Given the description of an element on the screen output the (x, y) to click on. 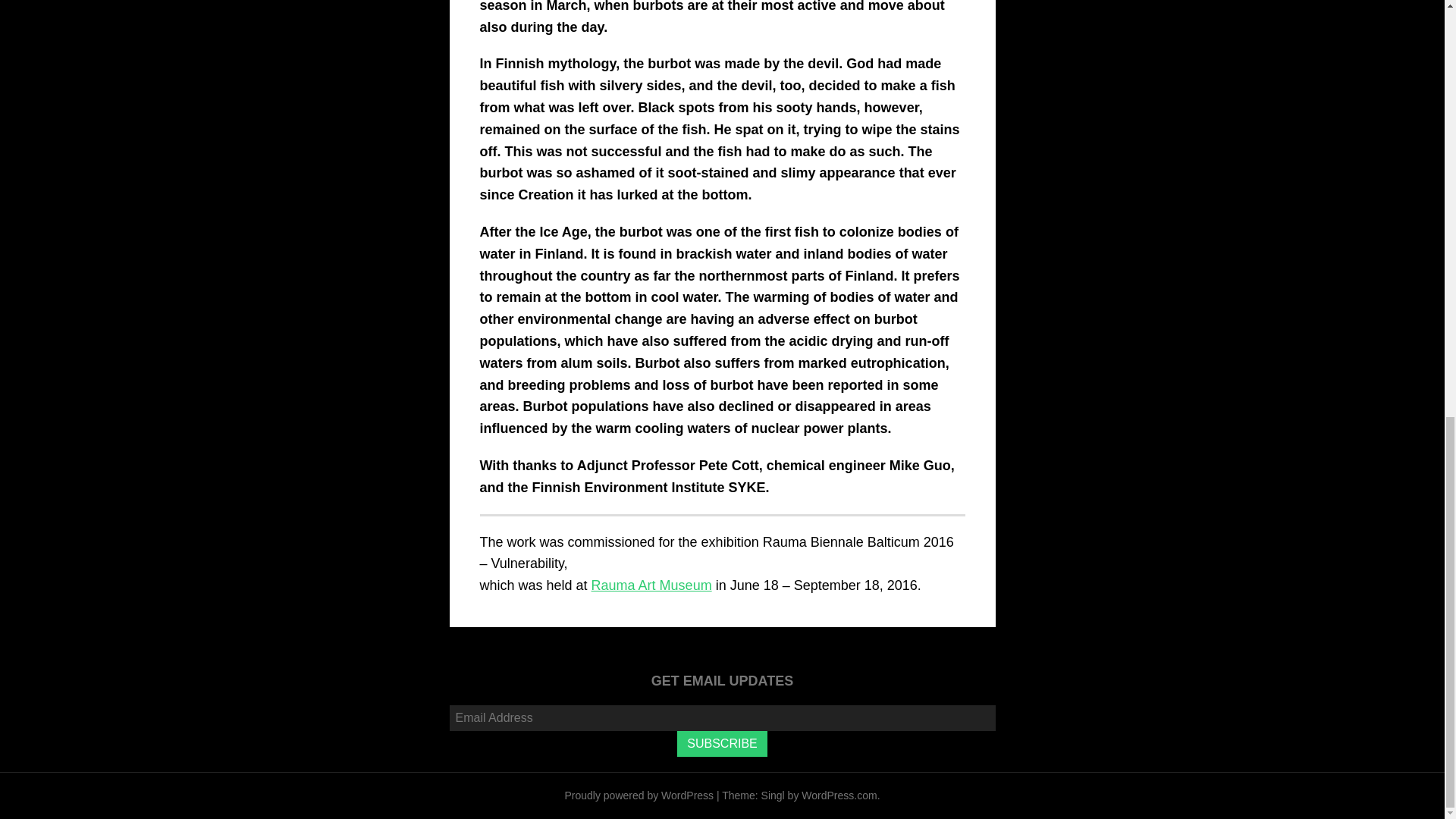
WordPress.com (839, 795)
Proudly powered by WordPress (638, 795)
SUBSCRIBE (722, 743)
Rauma Art Museum (651, 585)
